Given the description of an element on the screen output the (x, y) to click on. 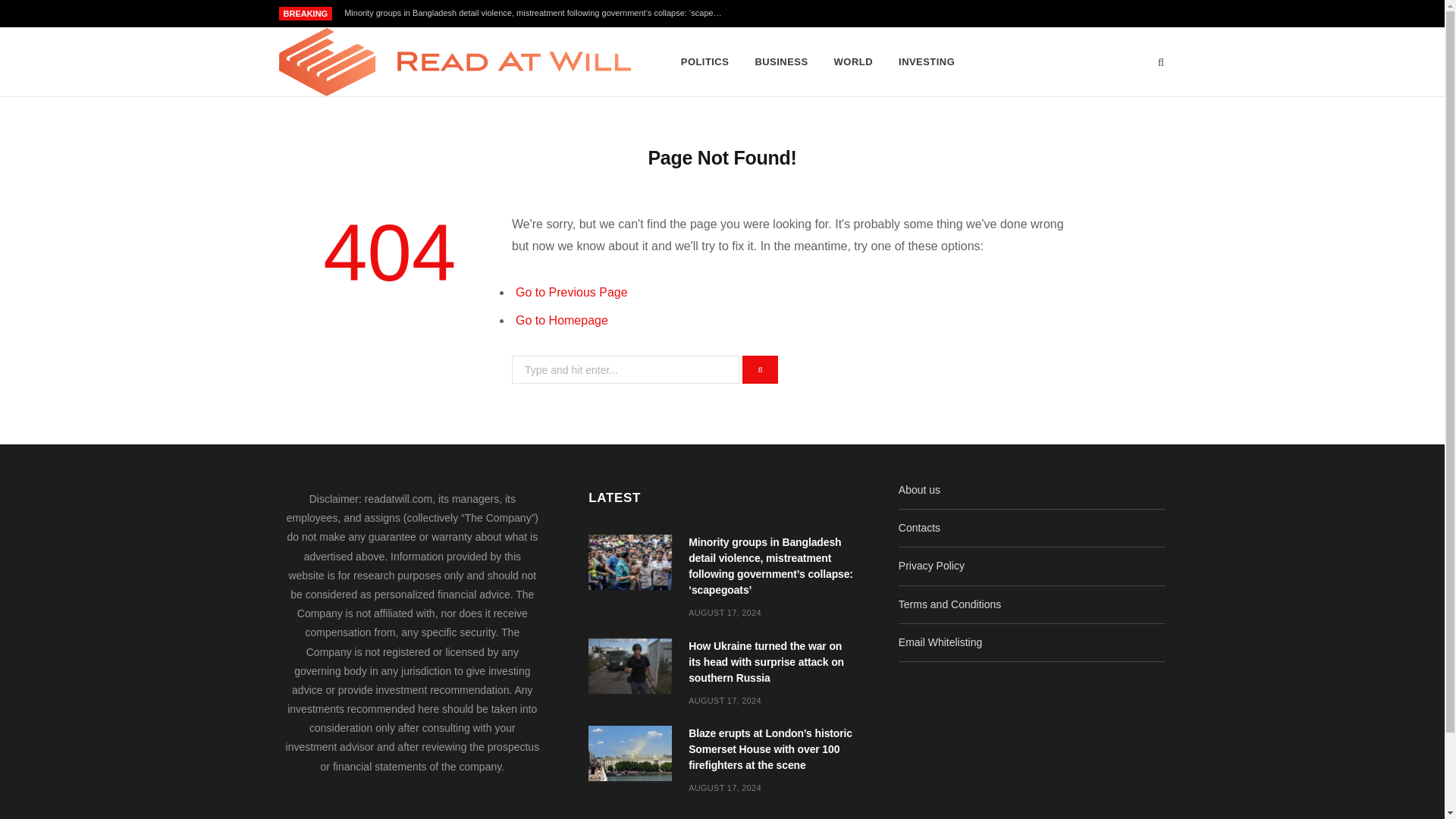
Email Whitelisting (939, 642)
AUGUST 17, 2024 (724, 787)
Search for: (625, 369)
Terms and Conditions (949, 604)
Go to Previous Page (571, 291)
Privacy Policy (930, 565)
INVESTING (926, 61)
POLITICS (705, 61)
Contacts (919, 527)
About us (919, 490)
